Given the description of an element on the screen output the (x, y) to click on. 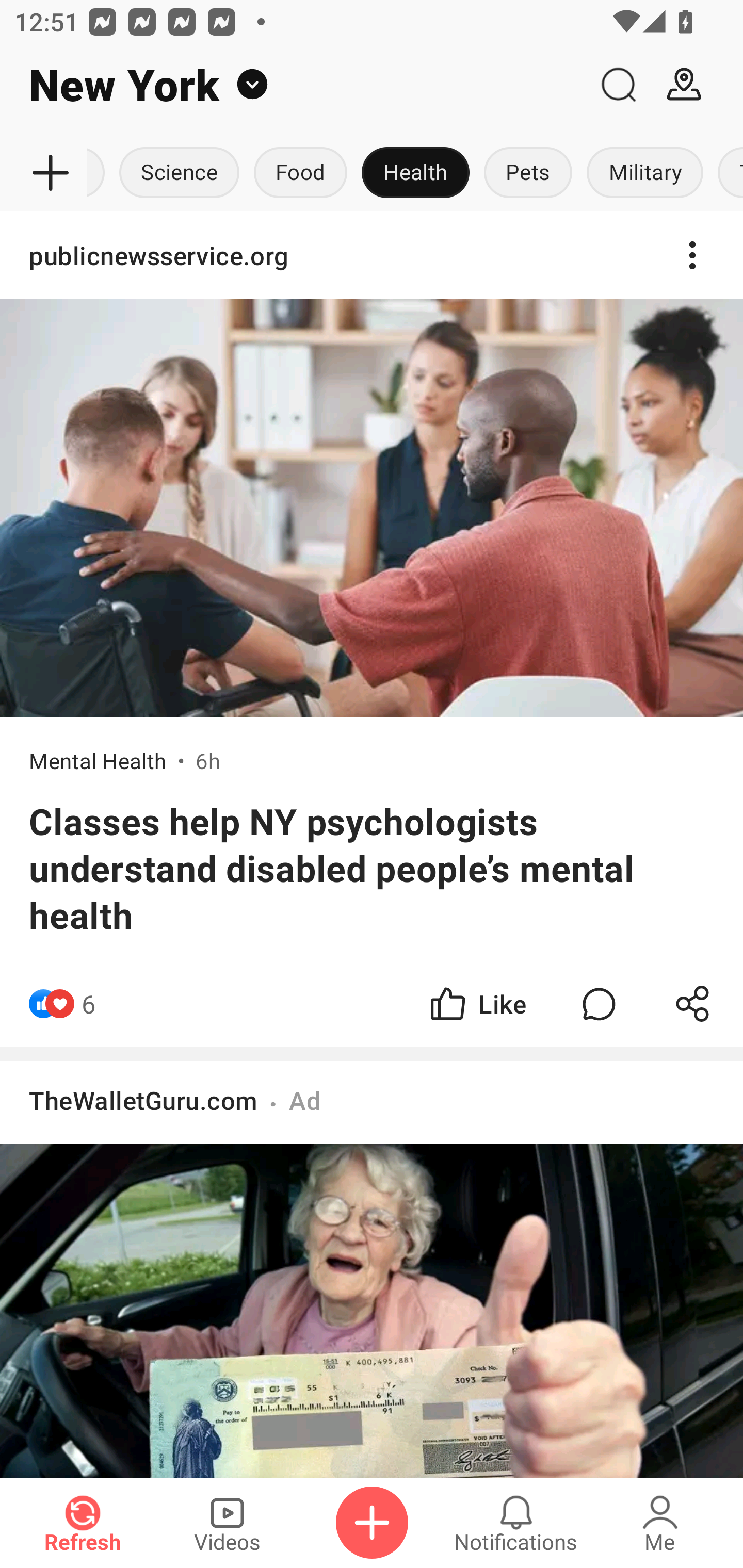
New York (292, 84)
Science (179, 172)
Food (300, 172)
Health (415, 172)
Pets (528, 172)
Military (644, 172)
publicnewsservice.org (371, 255)
6 (88, 1003)
Like (476, 1003)
TheWalletGuru.com (142, 1099)
Videos (227, 1522)
Notifications (516, 1522)
Me (659, 1522)
